Given the description of an element on the screen output the (x, y) to click on. 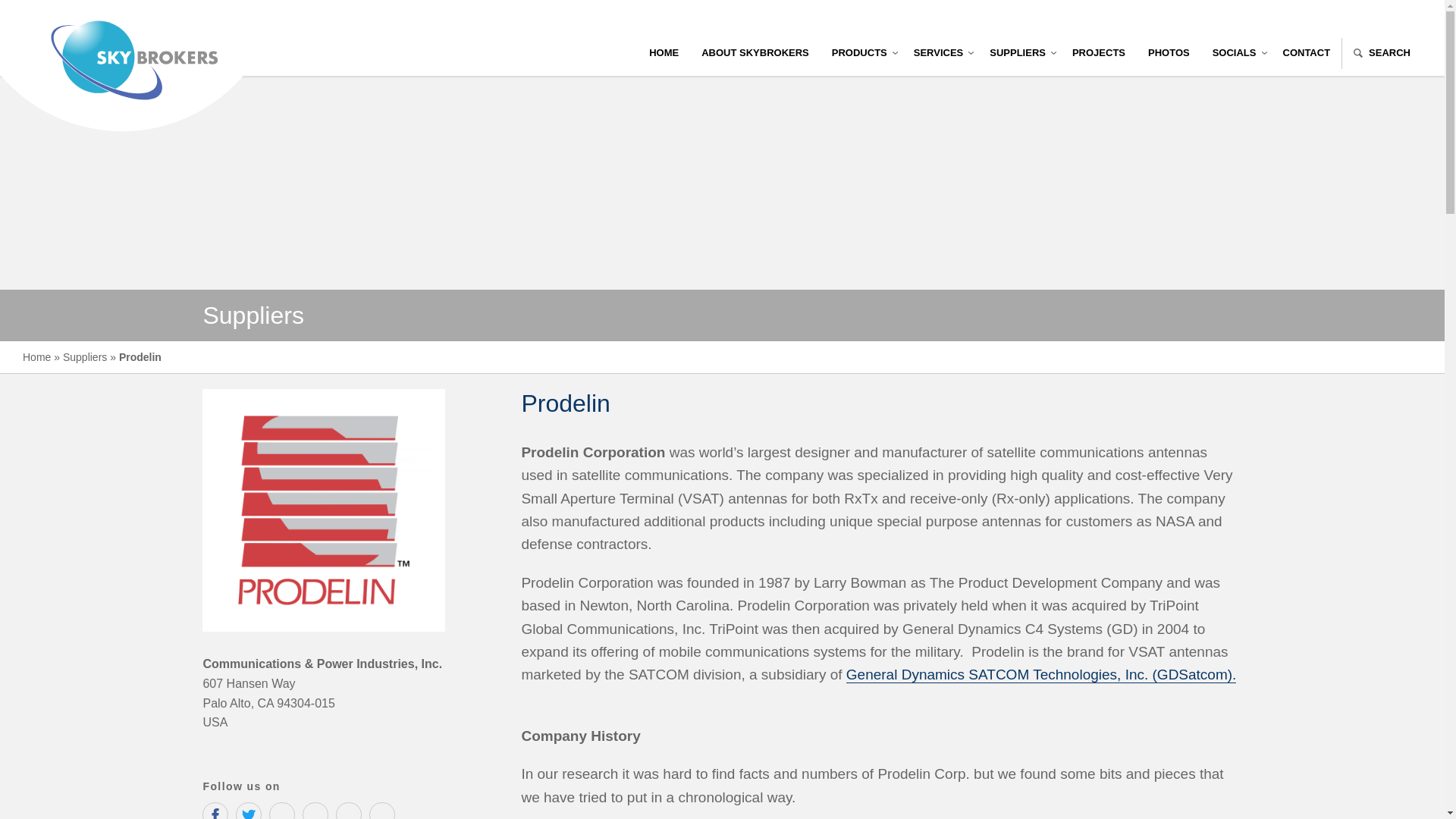
Follow Skybrokers on Pinterest (381, 810)
Follow Skybrokers on Twitter (248, 810)
ABOUT SKYBROKERS (755, 52)
HOME (663, 52)
PRODUCTS (861, 52)
Follow Skybrokers on Youtube (282, 810)
Follow Skybrokers on Facebook (215, 810)
Follow Skybrokers on Linkedin (348, 810)
Follow Skybrokers on Instagram (315, 810)
